Given the description of an element on the screen output the (x, y) to click on. 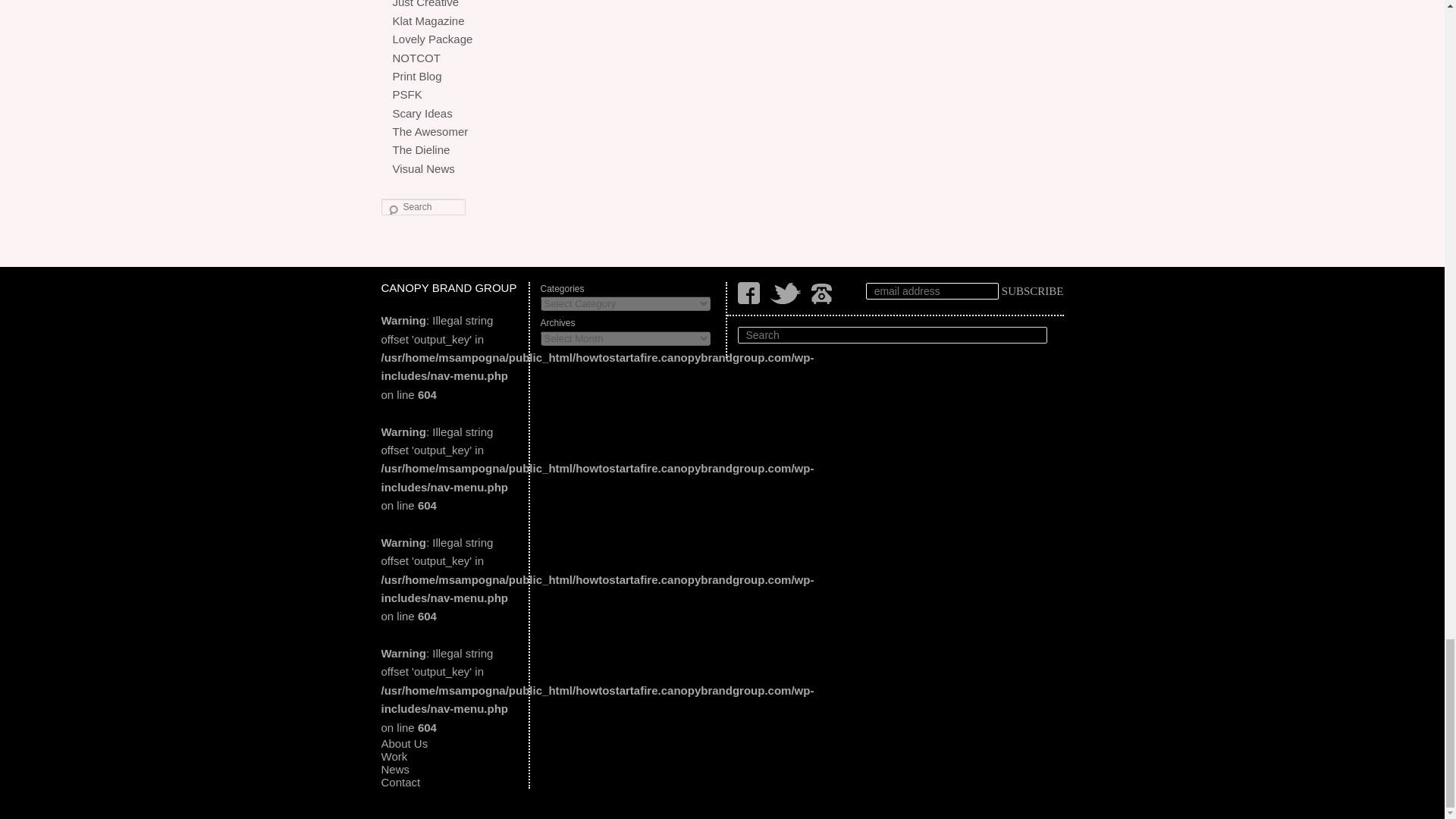
Subscribe (1032, 290)
